Given the description of an element on the screen output the (x, y) to click on. 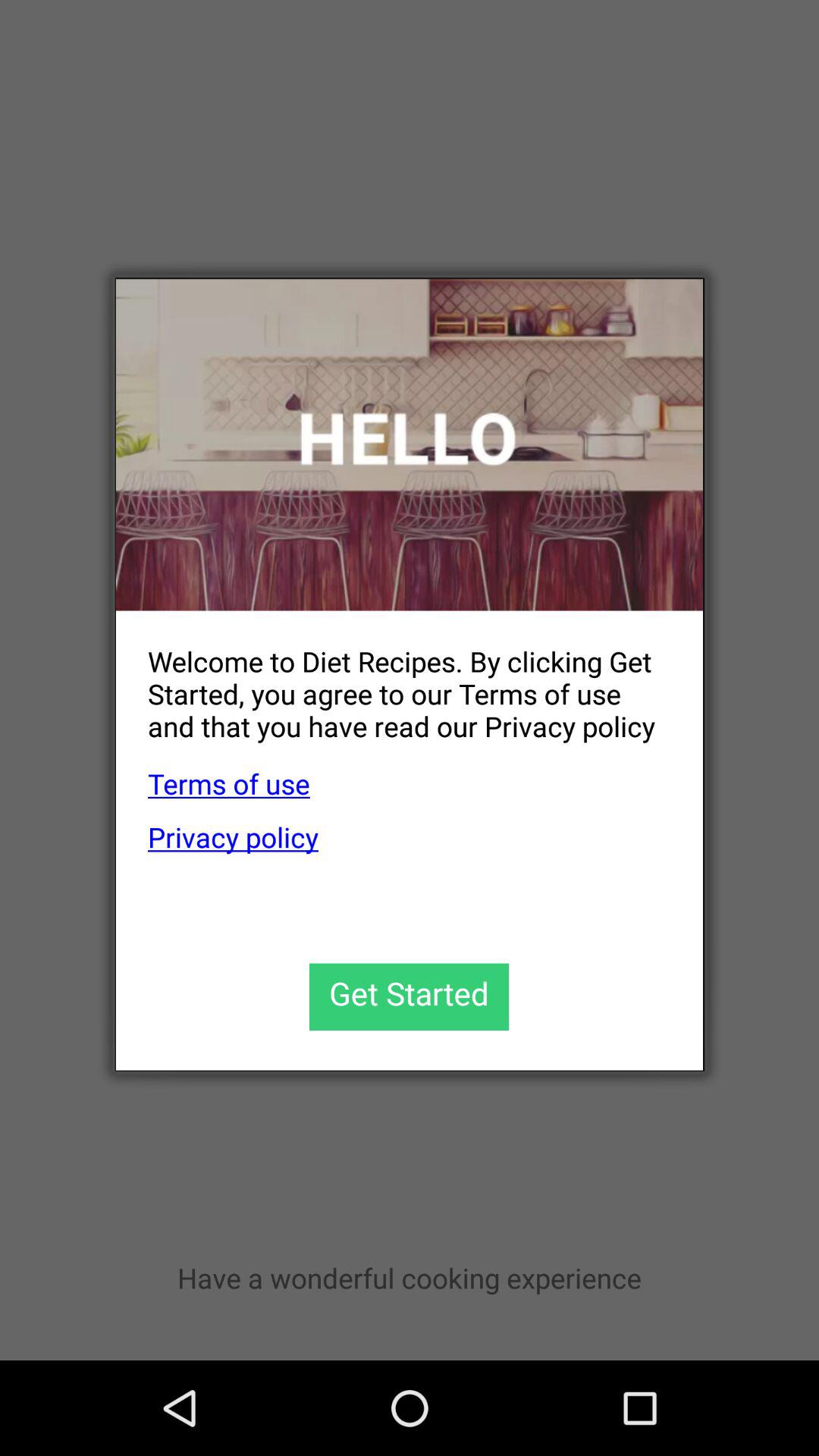
choose icon above terms of use item (393, 681)
